Given the description of an element on the screen output the (x, y) to click on. 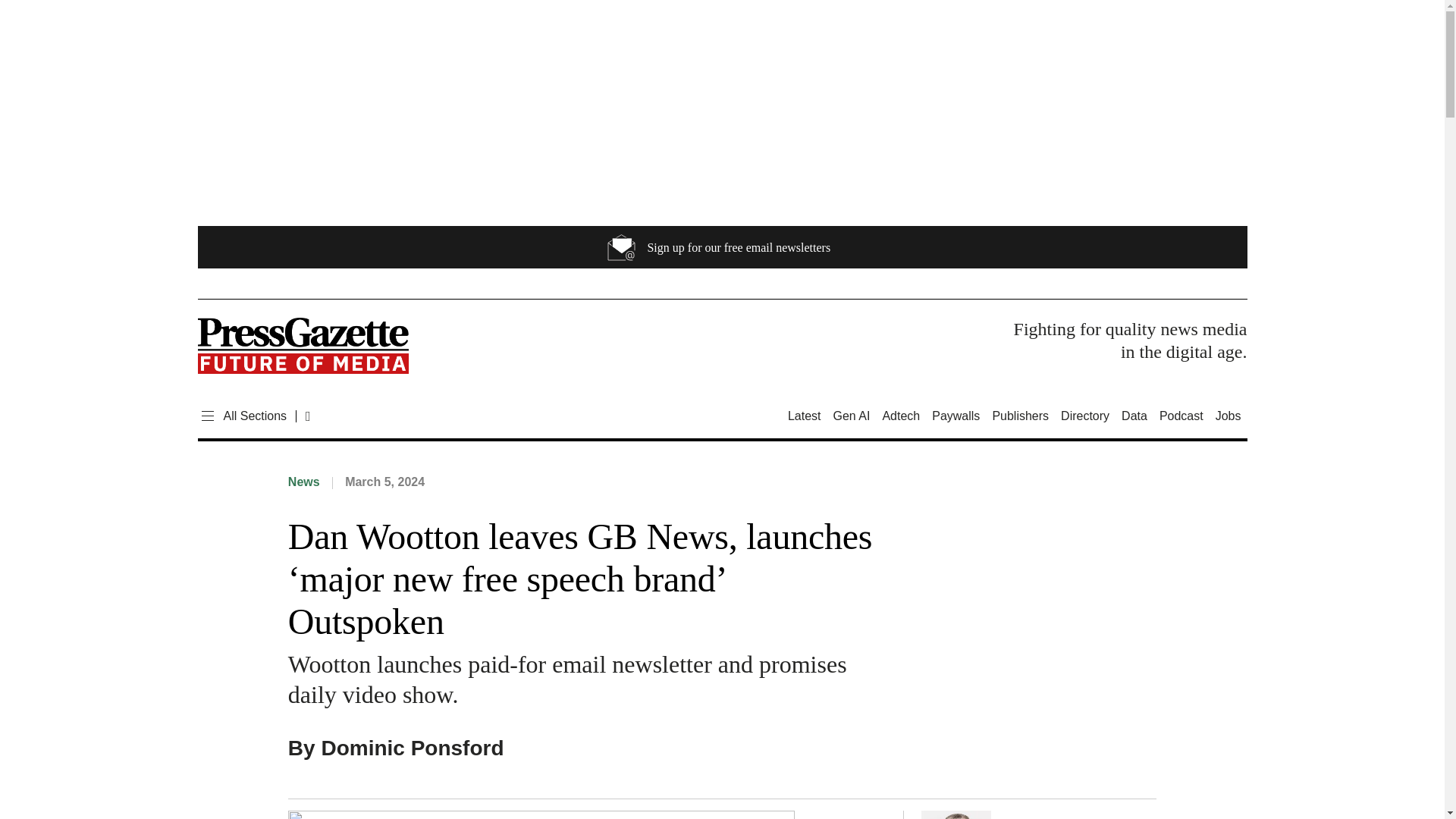
Press Gazette  (301, 348)
Directory (1084, 416)
All Sections (241, 416)
Data (1134, 416)
Gen AI (851, 416)
Publishers (1019, 416)
Latest (807, 416)
Adtech (901, 416)
Jobs (1228, 416)
Paywalls (955, 416)
